Given the description of an element on the screen output the (x, y) to click on. 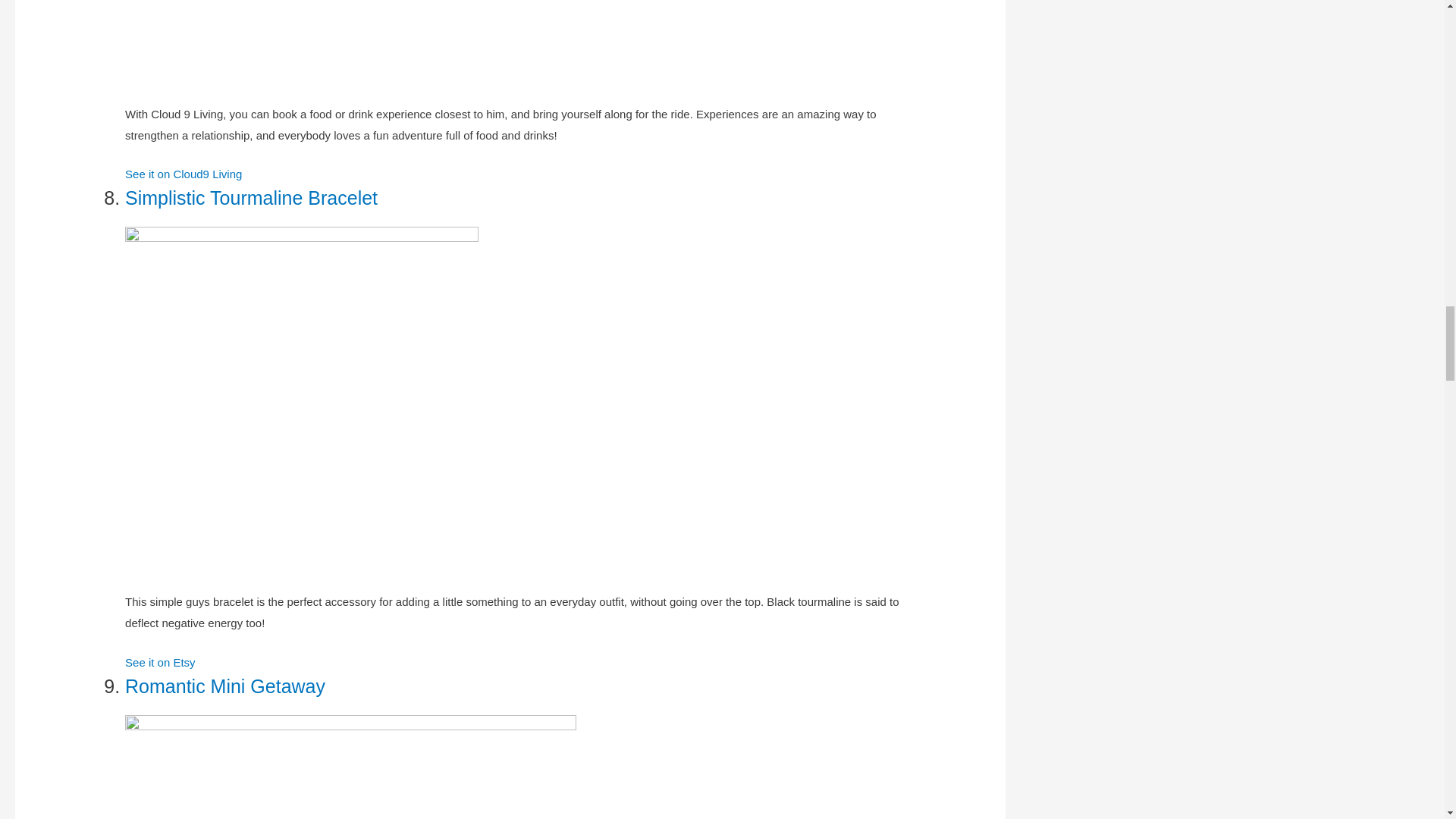
See it on Cloud9 Living (183, 173)
Simplistic Tourmaline Bracelet (251, 197)
See it on Etsy (160, 662)
